Given the description of an element on the screen output the (x, y) to click on. 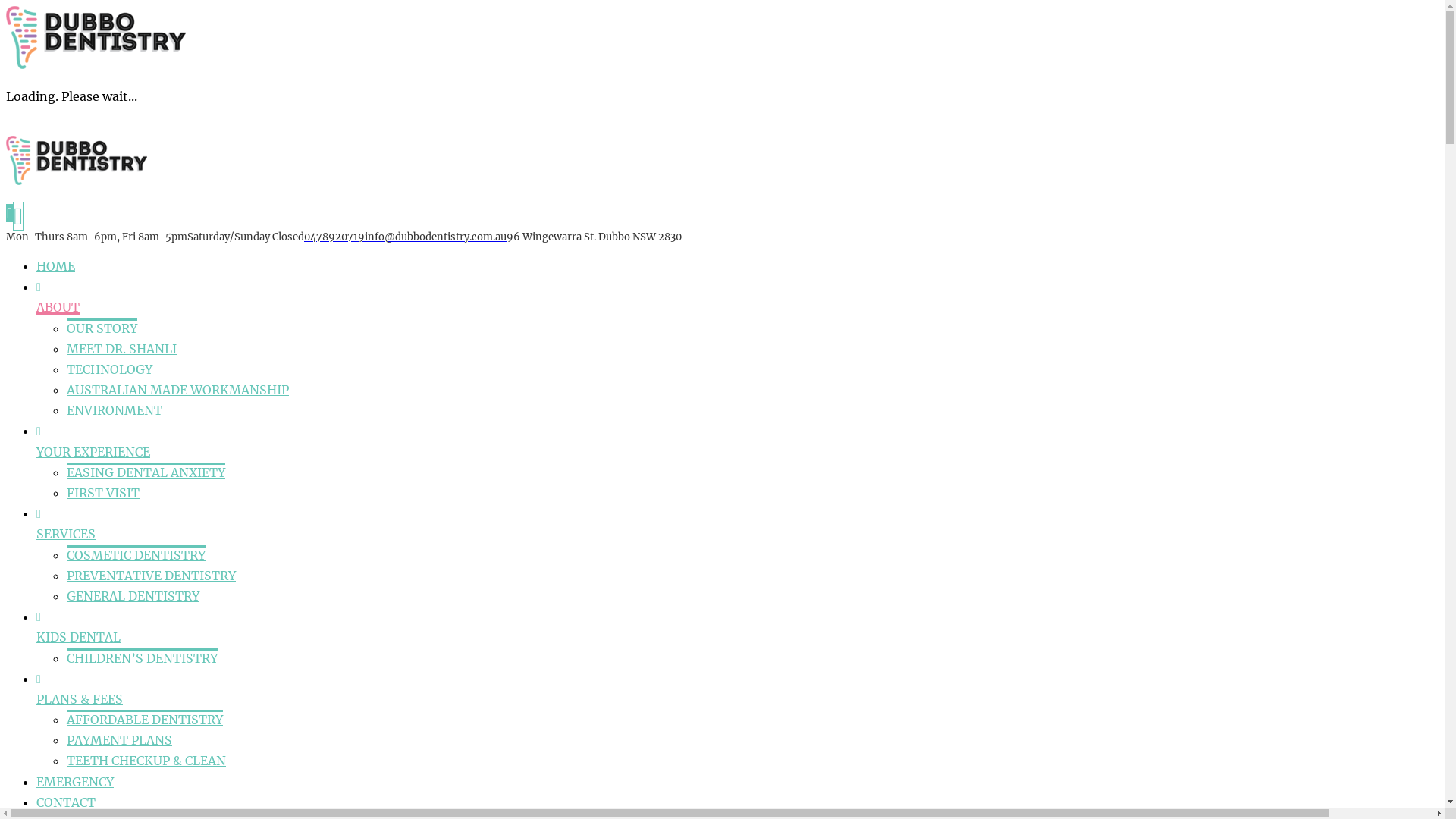
AFFORDABLE DENTISTRY Element type: text (144, 718)
0478920719info@dubbodentistry.com.au Element type: text (405, 236)
CONTACT Element type: text (65, 801)
FIRST VISIT Element type: text (102, 492)
EMERGENCY Element type: text (74, 781)
MEET DR. SHANLI Element type: text (121, 348)
TECHNOLOGY Element type: text (109, 368)
KIDS DENTAL Element type: text (78, 636)
ABOUT Element type: text (57, 306)
SERVICES Element type: text (65, 533)
TEETH CHECKUP & CLEAN Element type: text (145, 760)
OUR STORY Element type: text (101, 326)
ENVIRONMENT Element type: text (114, 409)
GENERAL DENTISTRY Element type: text (132, 595)
PAYMENT PLANS Element type: text (119, 739)
COSMETIC DENTISTRY Element type: text (135, 553)
EASING DENTAL ANXIETY Element type: text (145, 471)
PLANS & FEES Element type: text (79, 698)
PREVENTATIVE DENTISTRY Element type: text (150, 575)
HOME Element type: text (55, 265)
YOUR EXPERIENCE Element type: text (93, 451)
AUSTRALIAN MADE WORKMANSHIP Element type: text (177, 389)
